Given the description of an element on the screen output the (x, y) to click on. 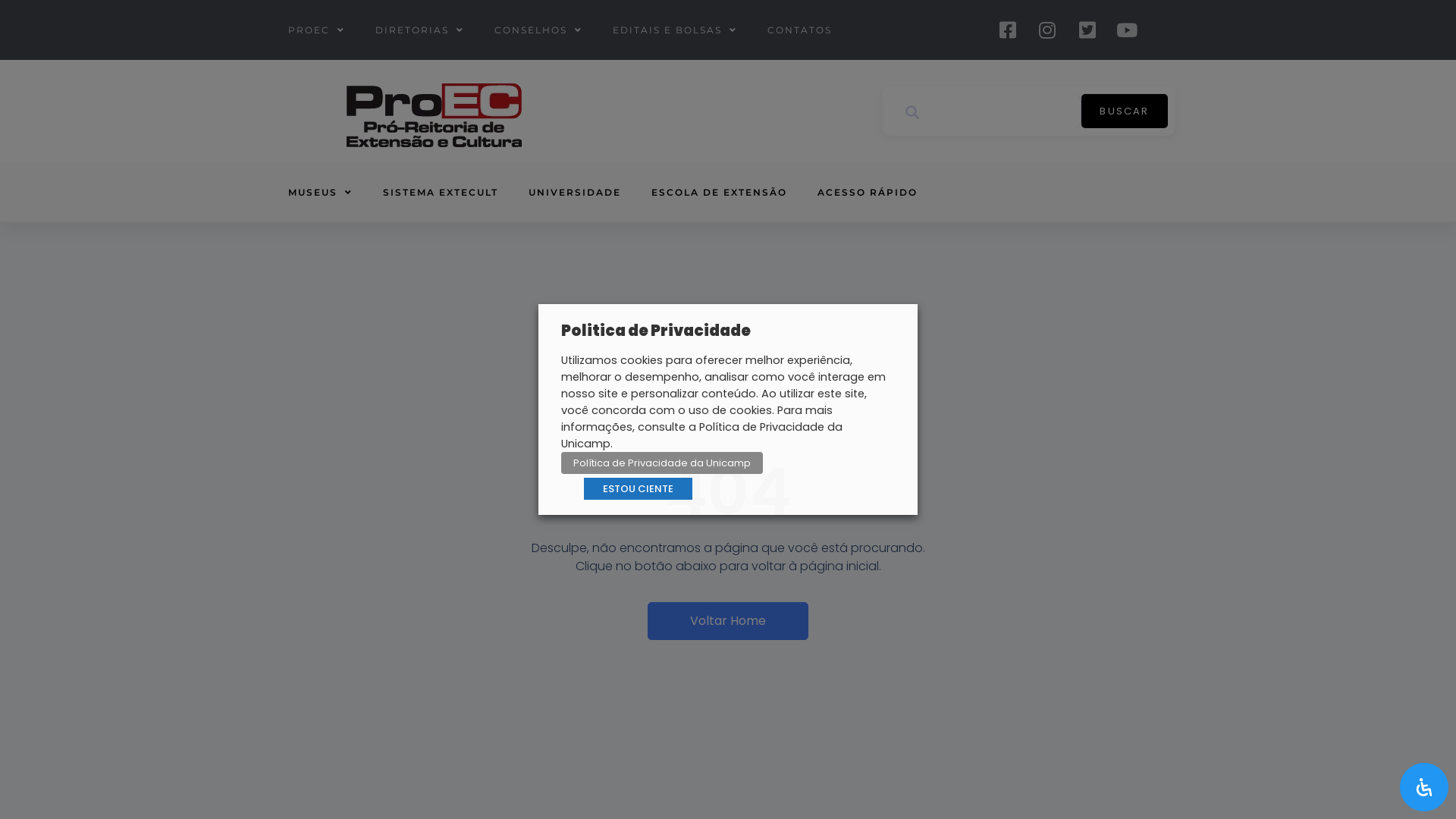
PROEC Element type: text (316, 29)
Voltar Home Element type: text (727, 621)
EDITAIS E BOLSAS Element type: text (674, 29)
SISTEMA EXTECULT Element type: text (440, 192)
DIRETORIAS Element type: text (419, 29)
CONSELHOS Element type: text (538, 29)
BUSCAR Element type: text (1124, 111)
MUSEUS Element type: text (320, 192)
Acessibilidade Element type: hover (1423, 786)
ESTOU CIENTE Element type: text (637, 488)
CONTATOS Element type: text (799, 29)
UNIVERSIDADE Element type: text (574, 192)
Small2 Element type: hover (433, 115)
